Given the description of an element on the screen output the (x, y) to click on. 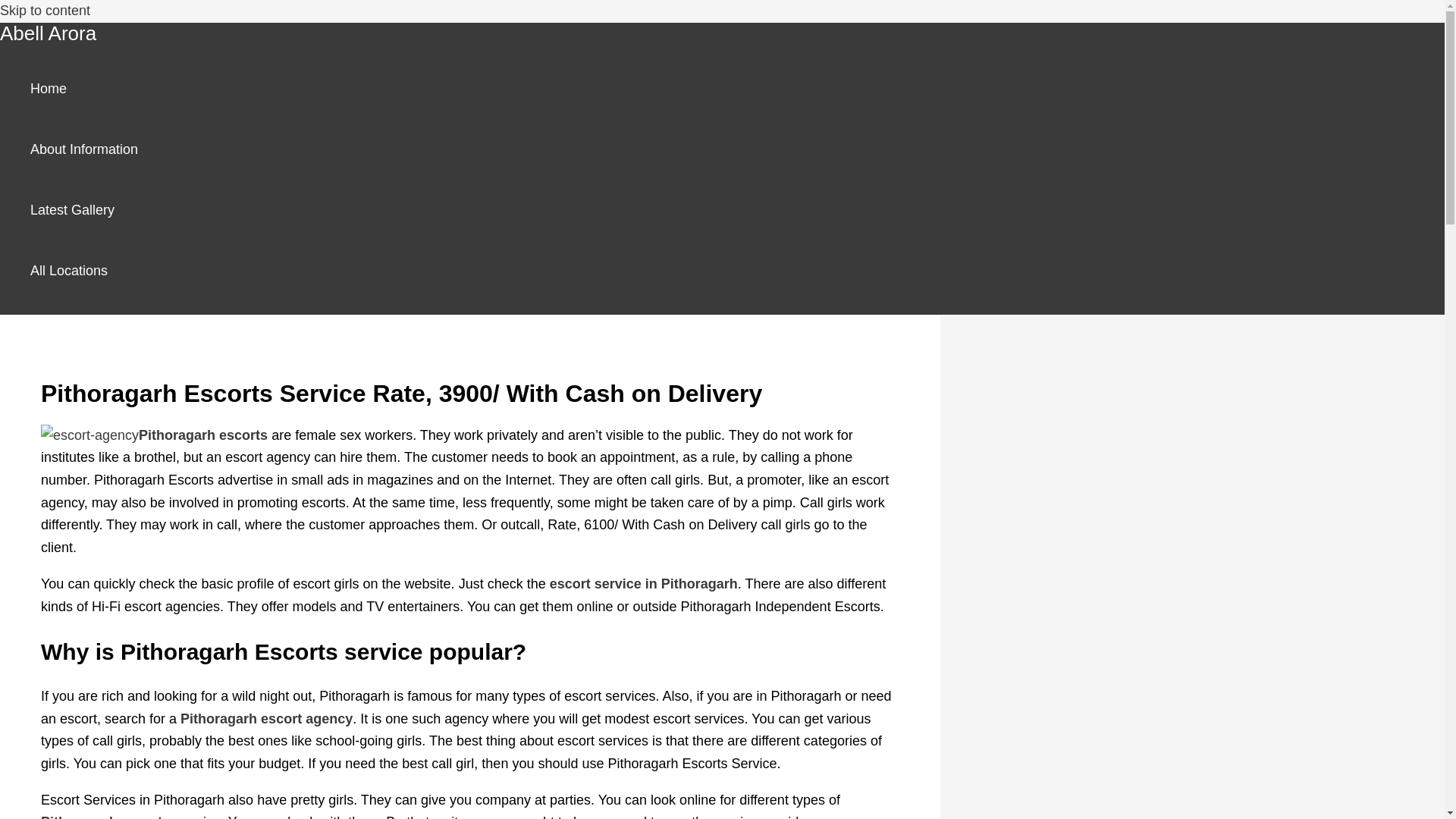
Pithoragarh escort (100, 816)
About Information (84, 148)
Skip to content (45, 10)
Pithoragarh escort agency (266, 718)
Abell Arora (48, 33)
All Locations (84, 270)
Latest Gallery (84, 209)
escort service in Pithoragarh (644, 583)
Home (84, 88)
Pithoragarh escorts (202, 435)
Skip to content (45, 10)
